Given the description of an element on the screen output the (x, y) to click on. 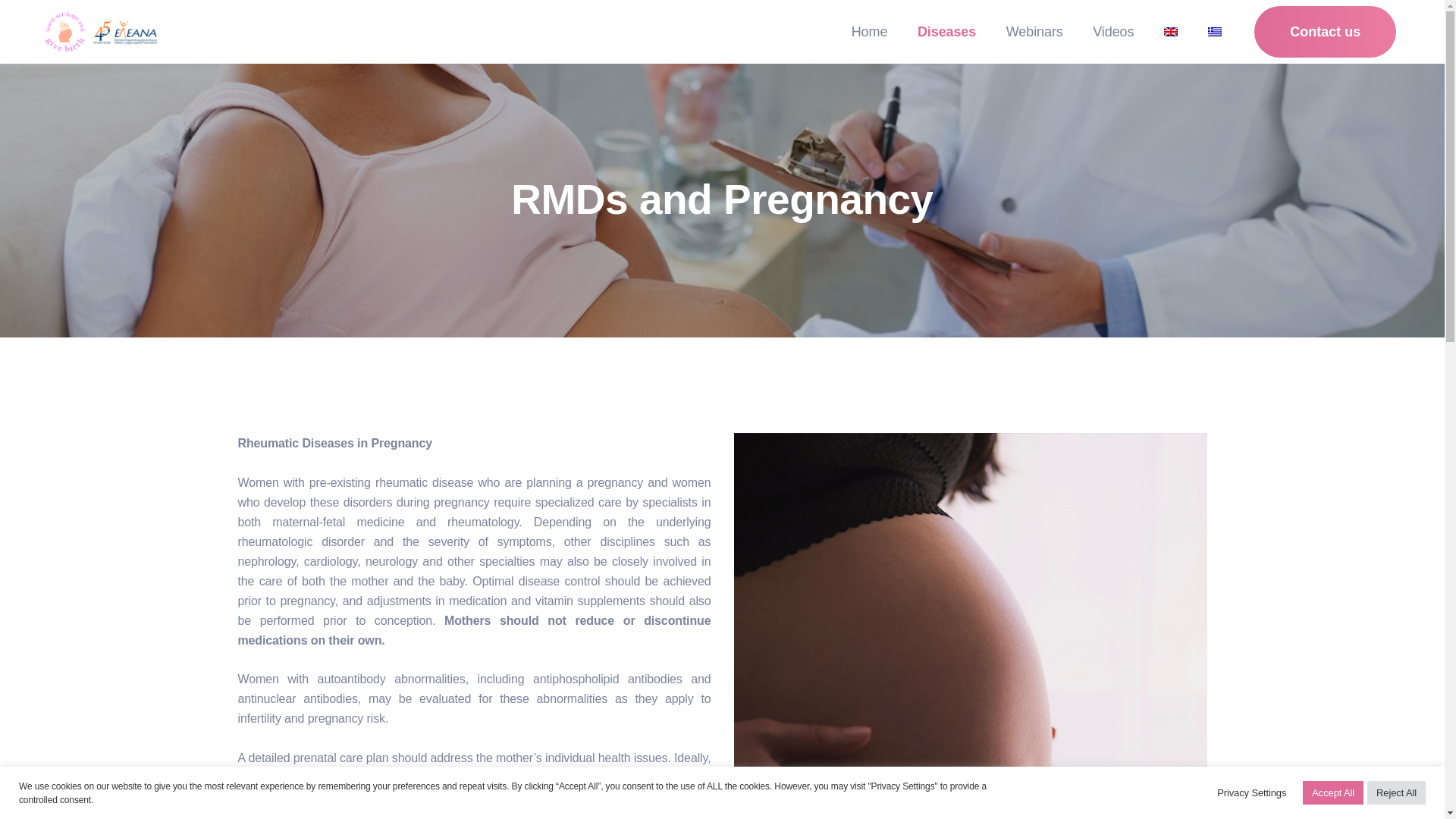
Contact us (1324, 31)
Diseases (946, 31)
Home (868, 31)
Videos (1112, 31)
Webinars (1034, 31)
